Given the description of an element on the screen output the (x, y) to click on. 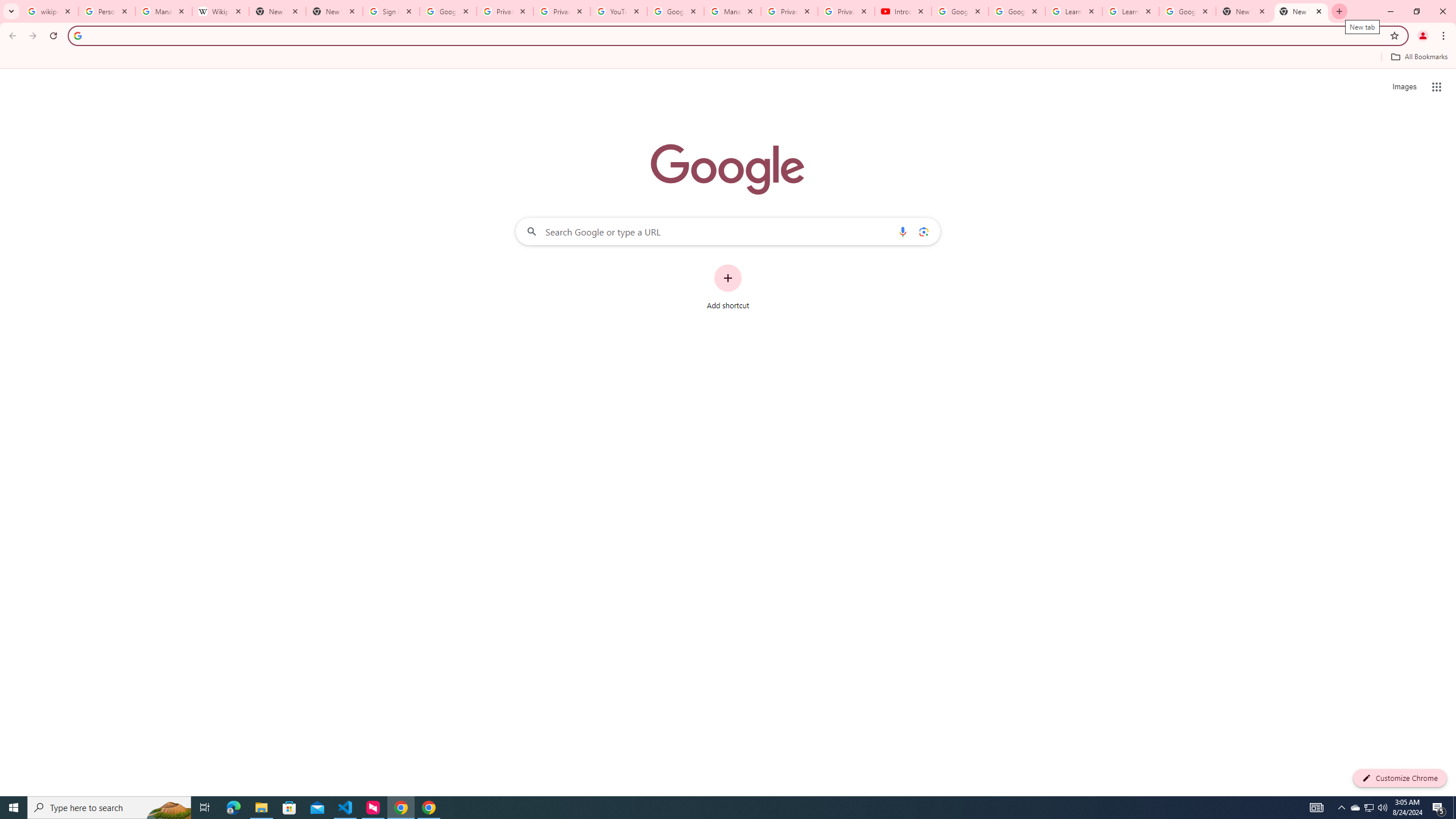
New Tab (1244, 11)
Google Account Help (675, 11)
New Tab (1301, 11)
